Given the description of an element on the screen output the (x, y) to click on. 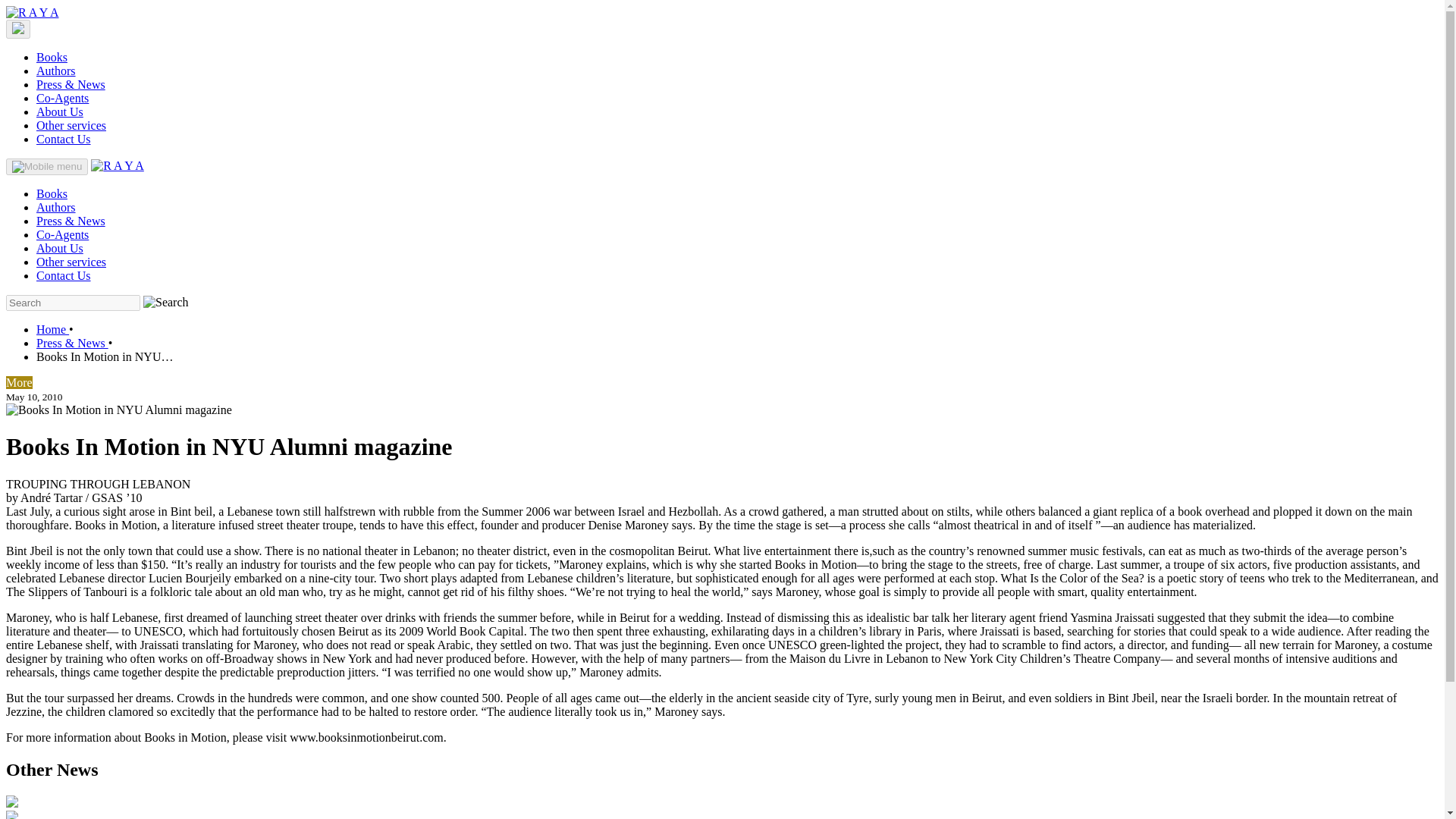
Contact Us (63, 275)
Other services (71, 261)
Authors (55, 70)
Books (51, 56)
Home (52, 328)
Books (51, 193)
Co-Agents (62, 234)
About Us (59, 111)
About Us (59, 247)
Contact Us (63, 138)
